Given the description of an element on the screen output the (x, y) to click on. 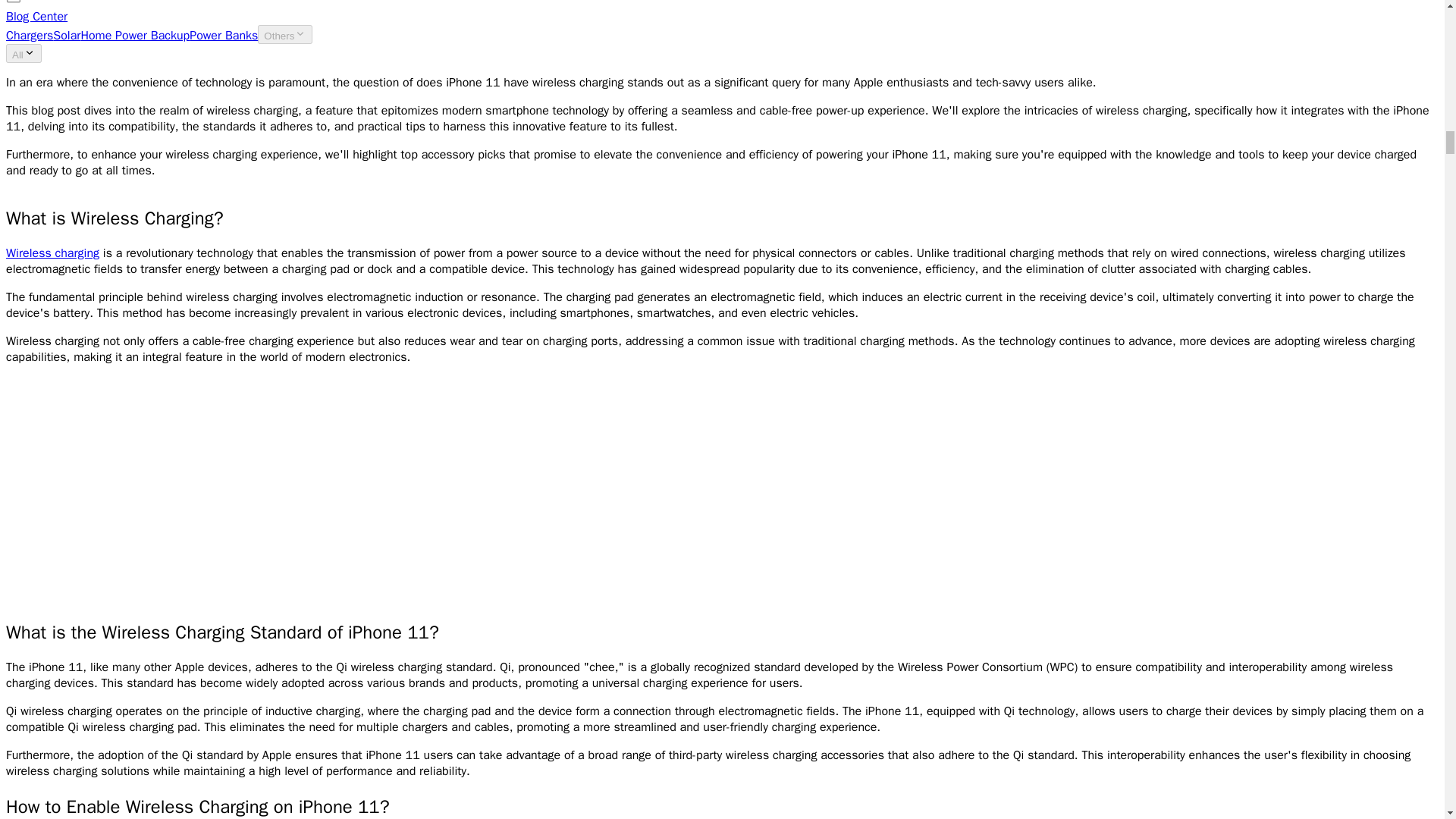
Chargers (28, 35)
Others (285, 34)
Blog Center (35, 16)
Email this to a friend (13, 4)
Wireless Charging (52, 253)
Solar (66, 35)
Wireless charging (52, 253)
All (23, 53)
Home Power Backup (134, 35)
Power Banks (223, 35)
